Given the description of an element on the screen output the (x, y) to click on. 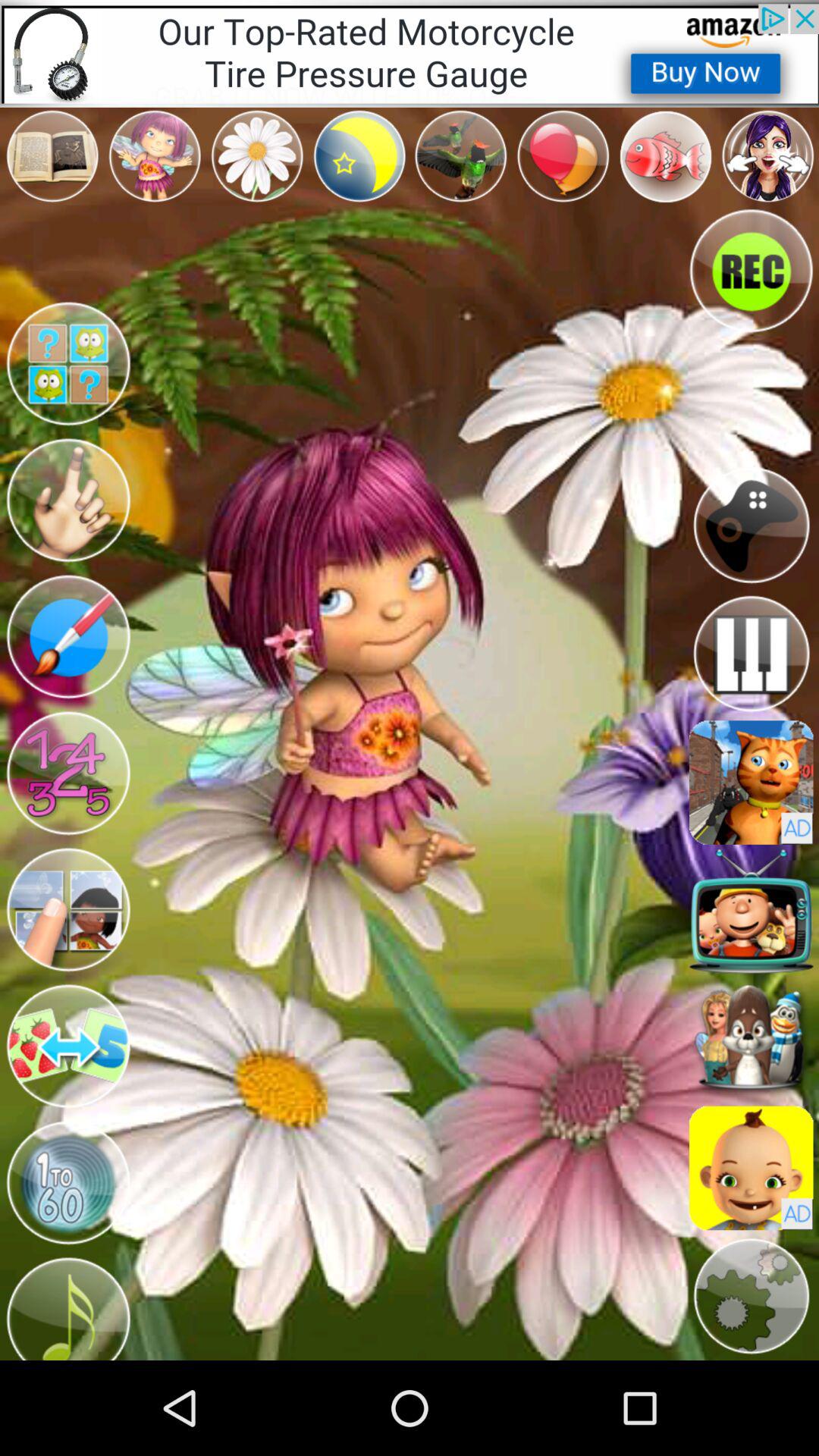
open advertisement (751, 1167)
